Given the description of an element on the screen output the (x, y) to click on. 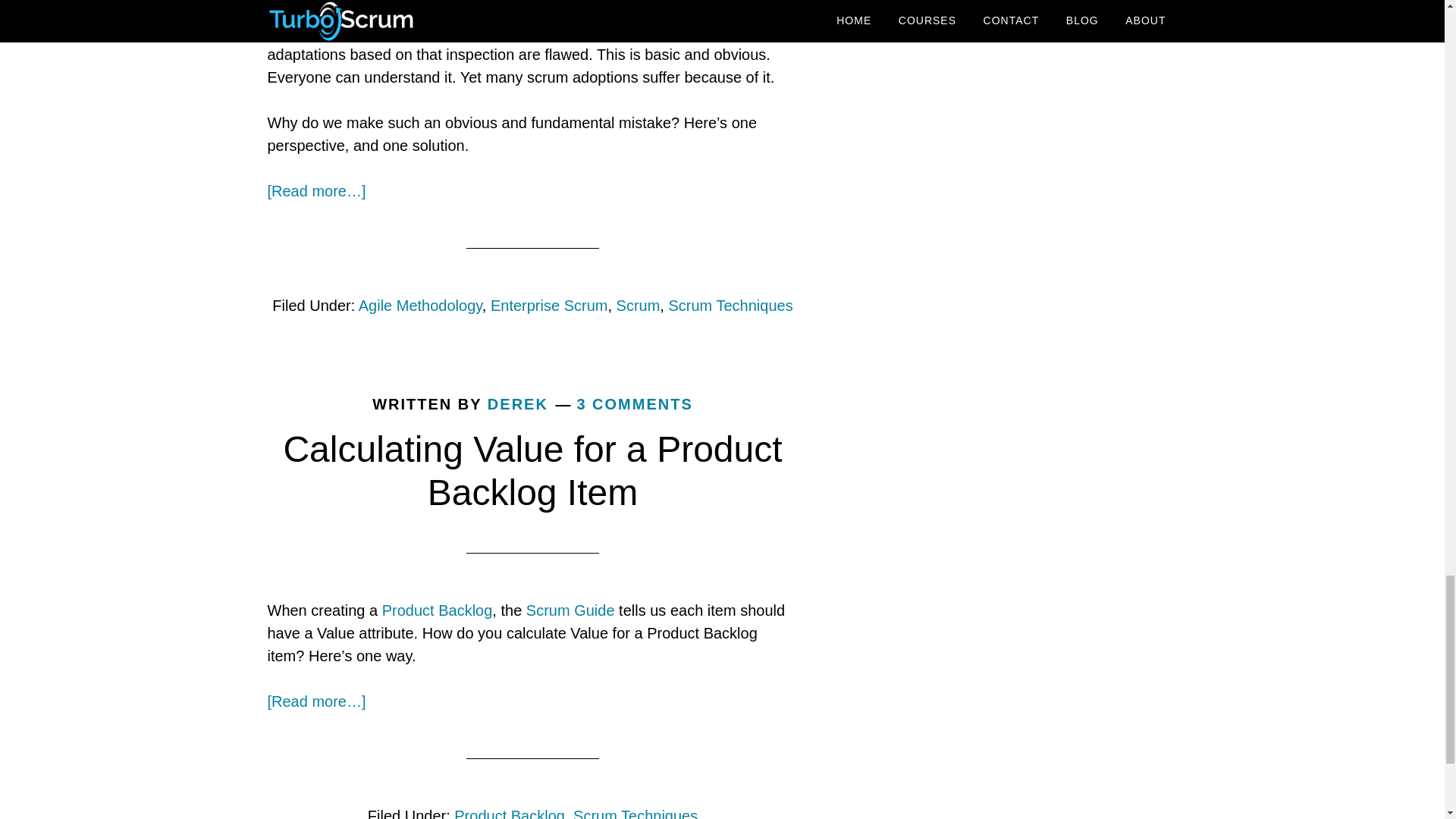
Calculating Value for a Product Backlog Item (531, 471)
Enterprise Scrum (549, 305)
Scrum (638, 305)
DEREK (517, 403)
3 COMMENTS (634, 403)
Agile Methodology (419, 305)
Scrum Techniques (730, 305)
Create a Product Backlog (437, 610)
